Given the description of an element on the screen output the (x, y) to click on. 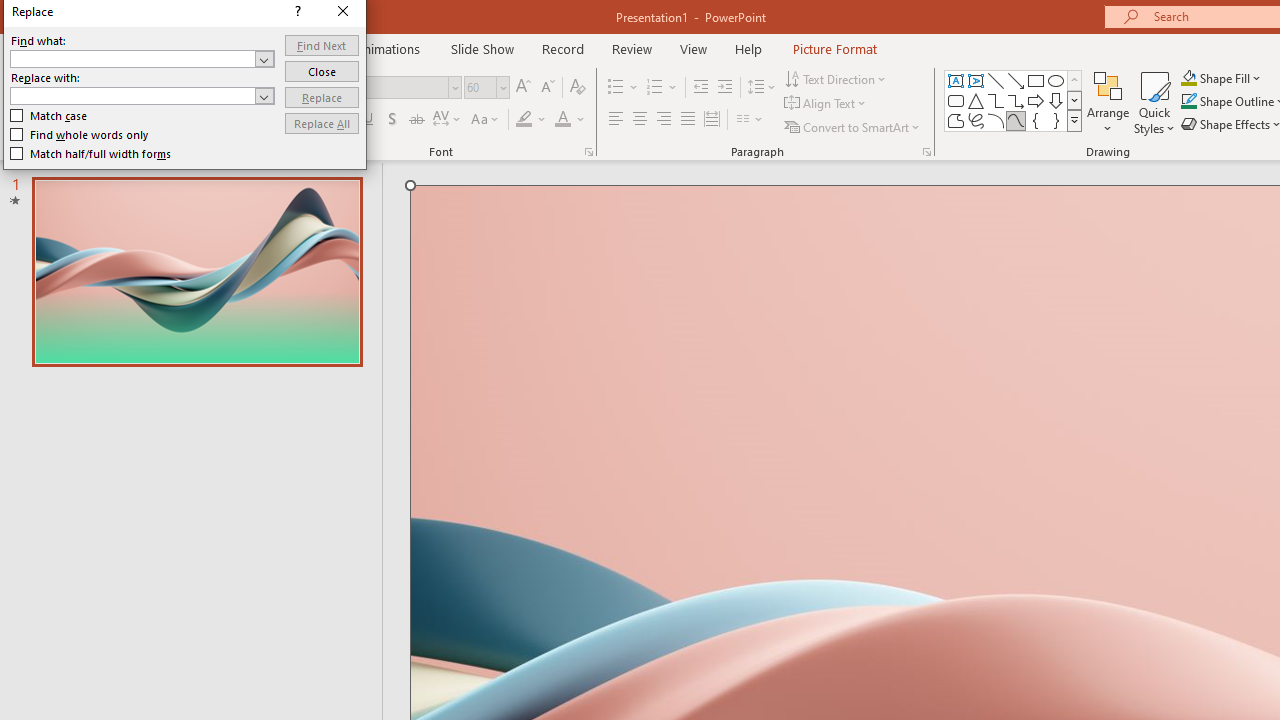
Replace All (321, 123)
Find whole words only (79, 134)
Find Next (321, 44)
Replace with (142, 96)
Match half/full width forms (91, 154)
